Given the description of an element on the screen output the (x, y) to click on. 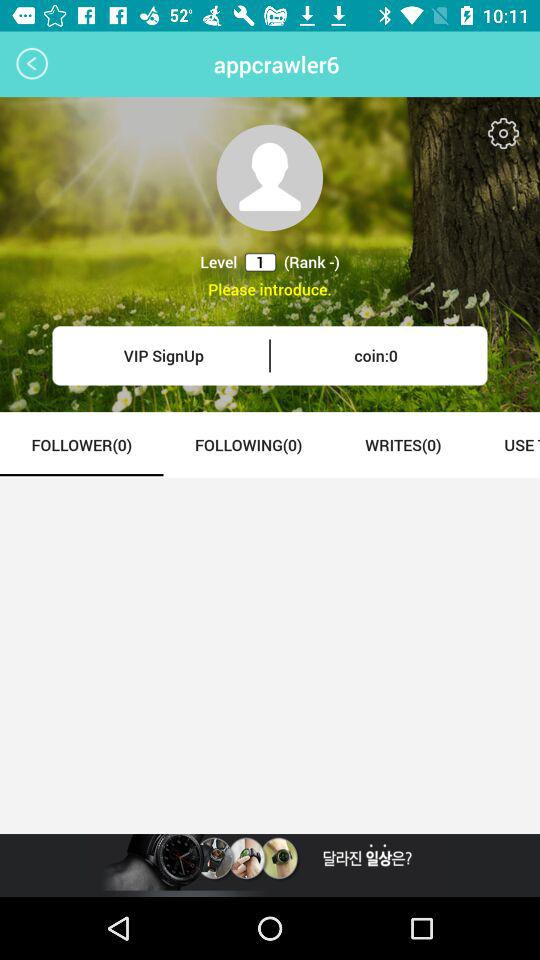
tap the item next to follower(0) icon (248, 444)
